Given the description of an element on the screen output the (x, y) to click on. 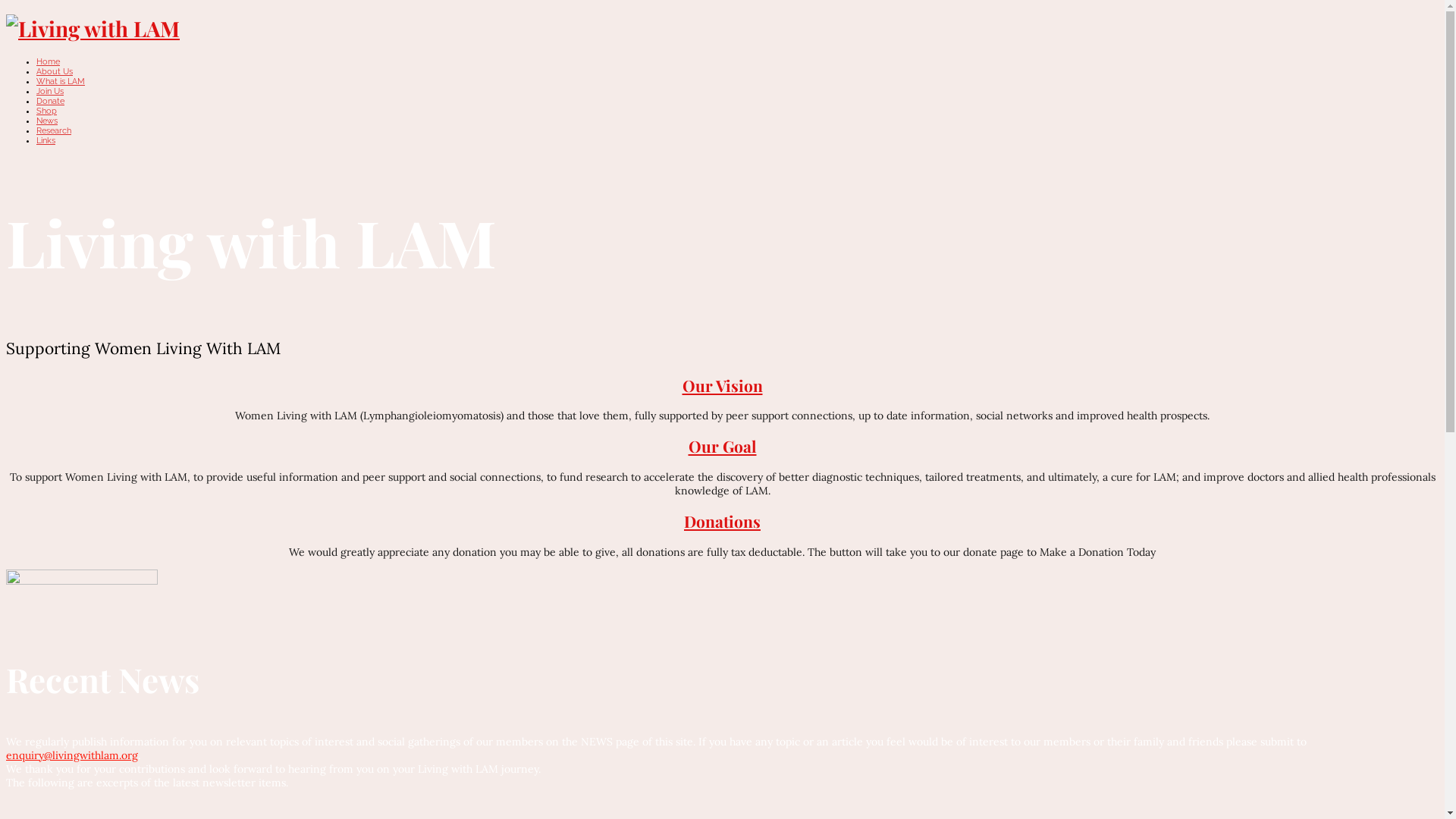
Home Element type: text (47, 60)
Our Vision Element type: text (722, 384)
Donations Element type: text (722, 520)
About Us Element type: text (54, 71)
Research Element type: text (53, 130)
Shop Element type: text (46, 111)
News Element type: text (46, 120)
Donate Element type: text (50, 100)
Links Element type: text (45, 139)
Our Goal Element type: text (722, 445)
Join Us Element type: text (49, 91)
What is LAM Element type: text (60, 80)
enquiry@livingwithlam.org Element type: text (72, 755)
